Given the description of an element on the screen output the (x, y) to click on. 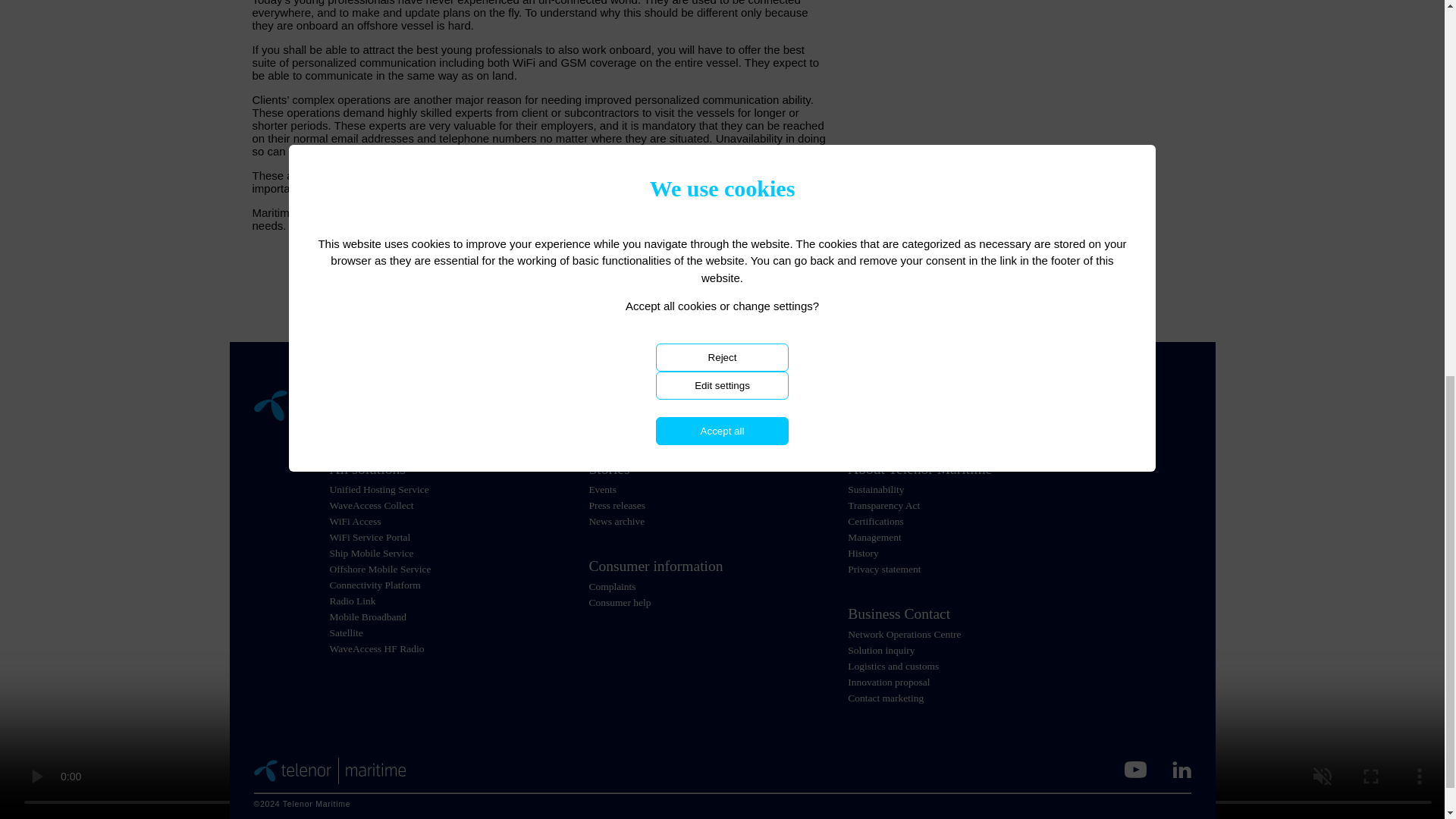
Connectivity Platform (374, 584)
Telenor Maritime - Leading the digital transformation at sea (328, 770)
WaveAccess Collect (371, 505)
WiFi Access (354, 521)
WiFi Service Portal (369, 536)
Mobile Broadband (367, 616)
Offshore Mobile Service (379, 568)
Visit Telenor Maritime on Youtube (1134, 769)
Radio Link (352, 600)
Visit Telenor Maritime on LinkedIn (1181, 769)
Ship Mobile Service (371, 552)
All solutions (458, 469)
Unified Hosting Service (378, 489)
